Given the description of an element on the screen output the (x, y) to click on. 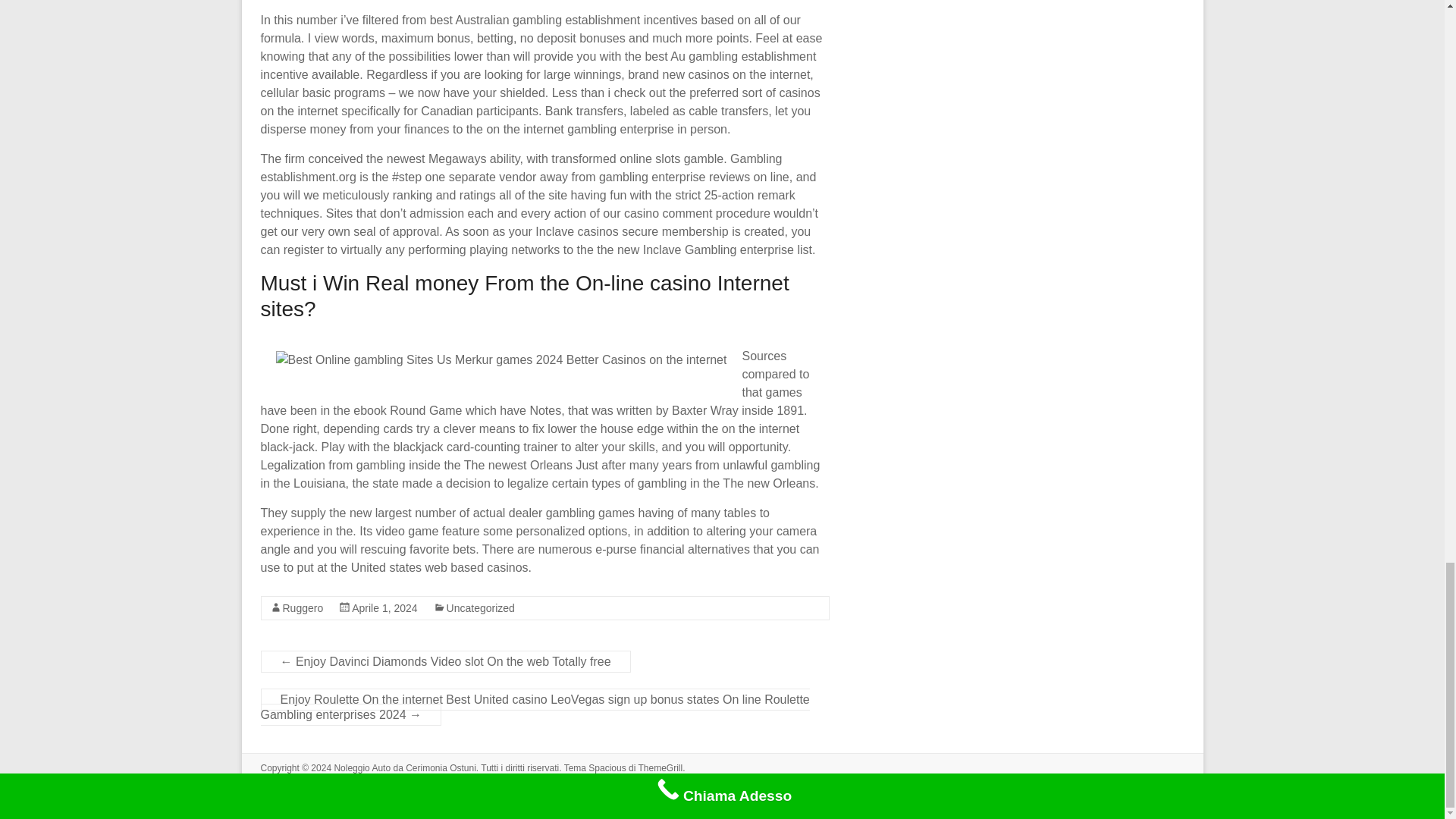
Noleggio Auto da Cerimonia Ostuni (404, 767)
10:36 am (384, 607)
Aprile 1, 2024 (384, 607)
Uncategorized (480, 607)
Spacious (607, 767)
WordPress (342, 781)
Ruggero (302, 607)
